Given the description of an element on the screen output the (x, y) to click on. 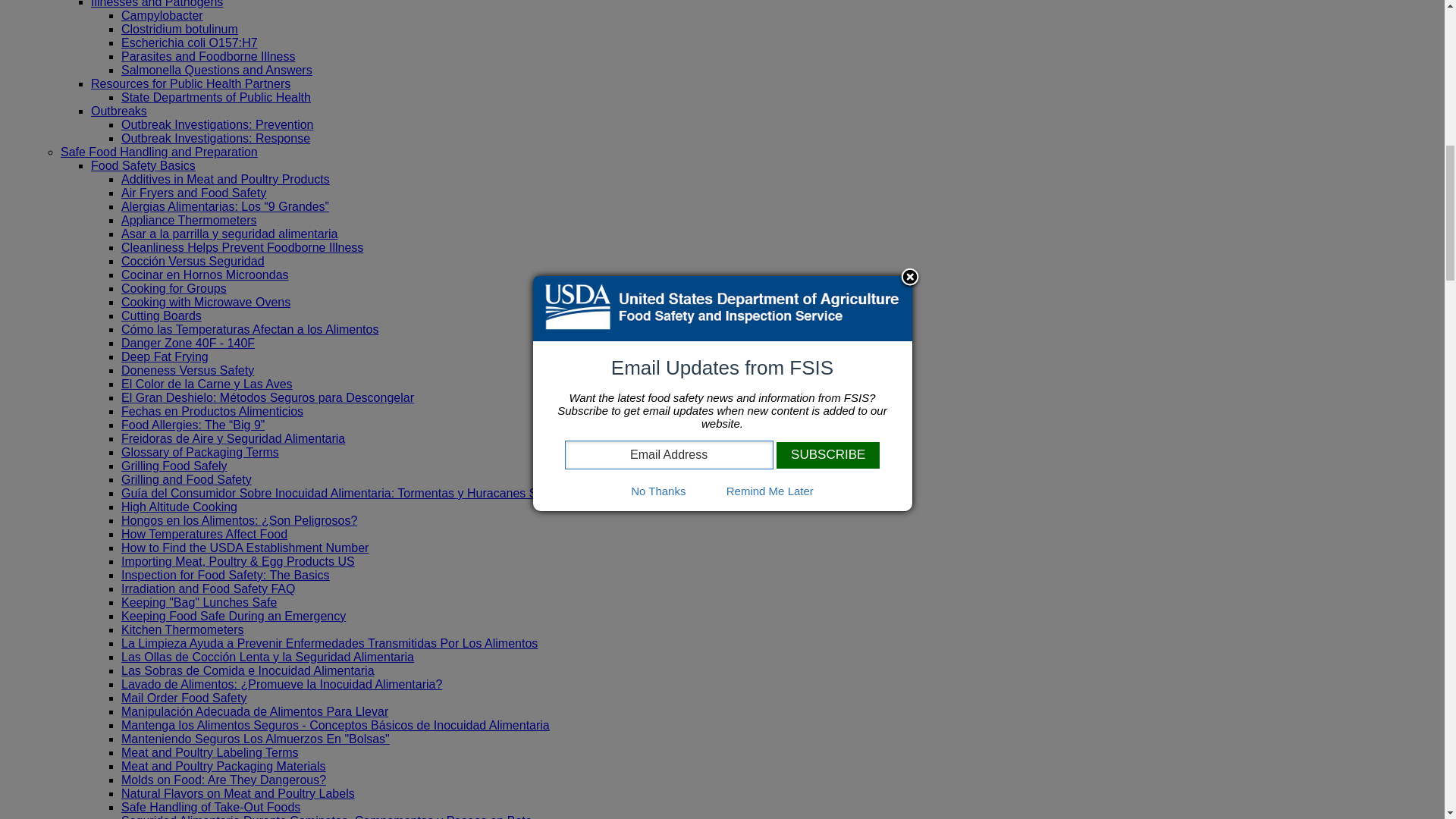
Clostridium botulinum (179, 29)
Illnesses and Pathogens (156, 4)
Campylobacter (161, 15)
